Given the description of an element on the screen output the (x, y) to click on. 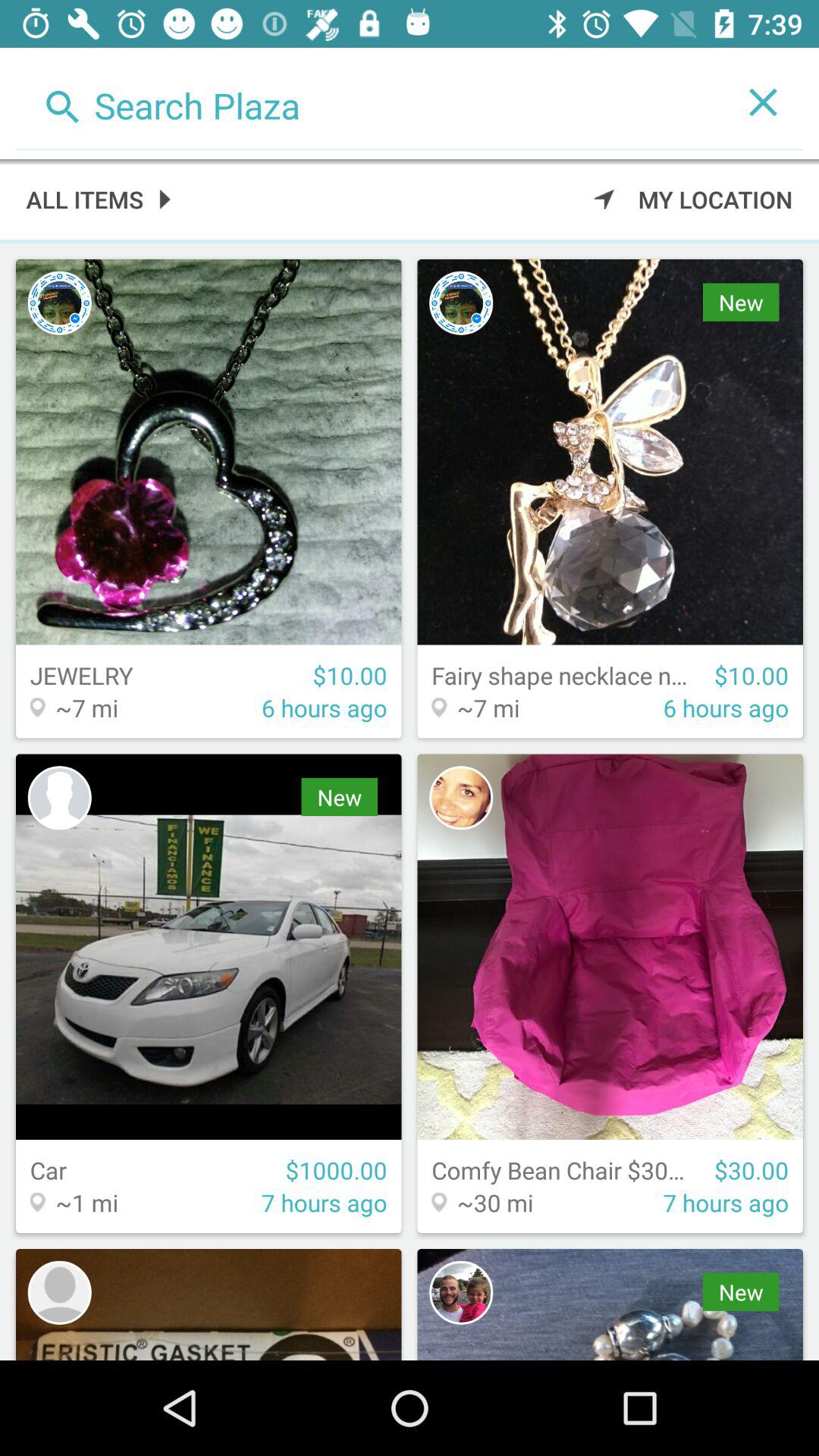
go to contact pic (59, 302)
